Given the description of an element on the screen output the (x, y) to click on. 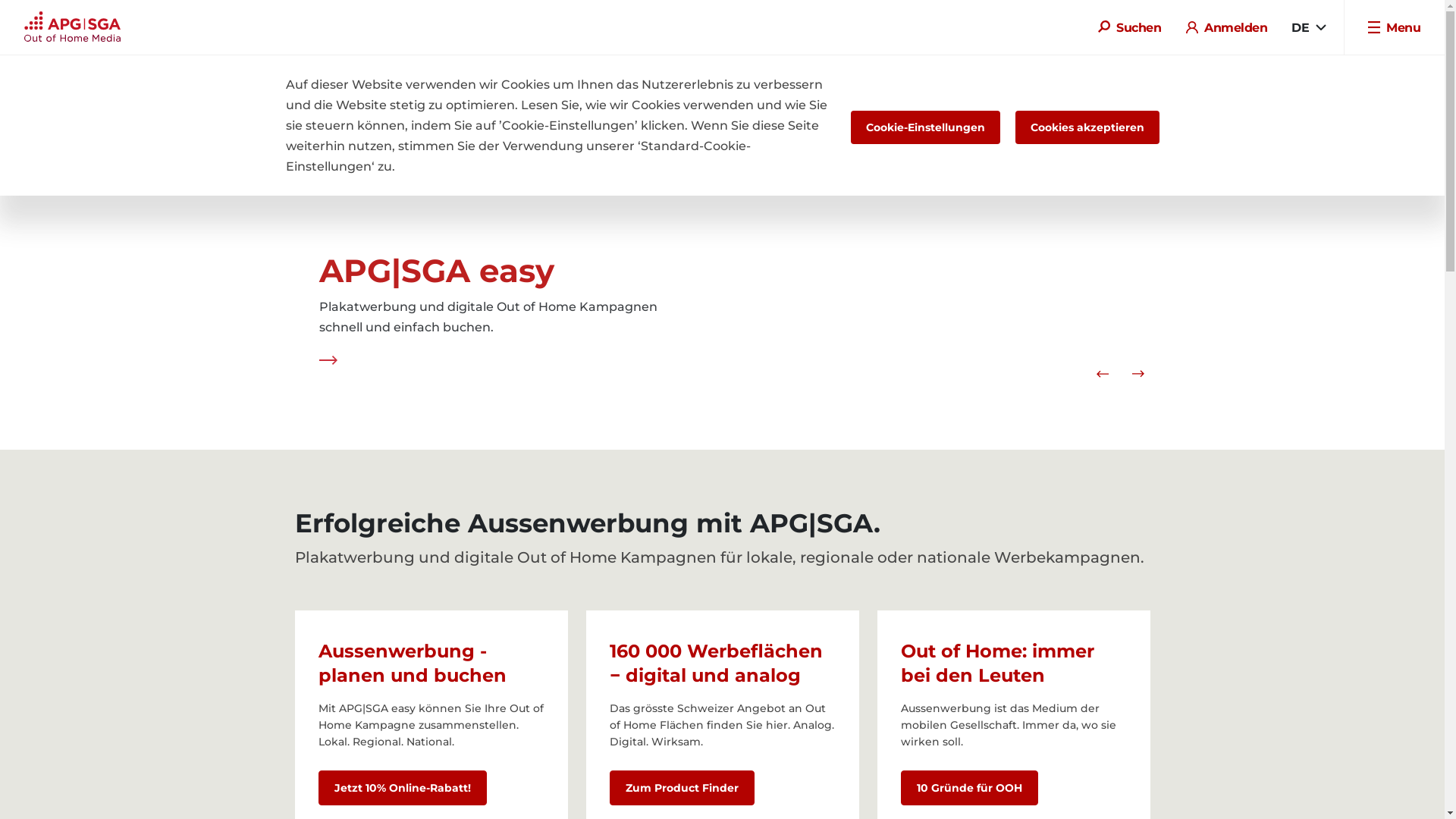
Cookie-Einstellungen Element type: text (925, 127)
Cookies akzeptieren Element type: text (1086, 127)
DE Element type: text (1308, 27)
